Given the description of an element on the screen output the (x, y) to click on. 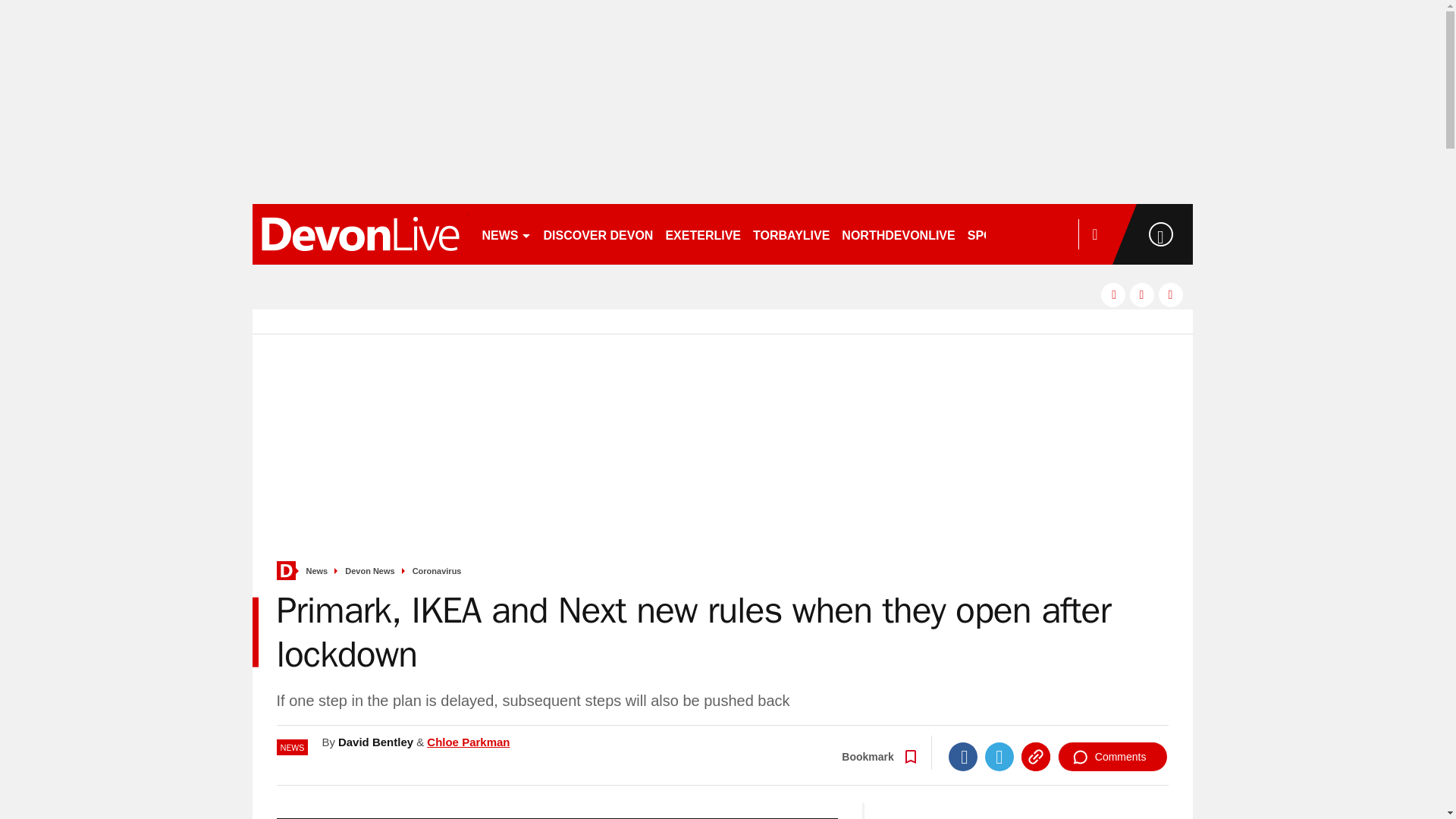
SPORT (993, 233)
Facebook (962, 756)
NEWS (506, 233)
Comments (1112, 756)
EXETERLIVE (702, 233)
devonlive (359, 233)
NORTHDEVONLIVE (897, 233)
TORBAYLIVE (790, 233)
DISCOVER DEVON (598, 233)
facebook (1112, 294)
